Given the description of an element on the screen output the (x, y) to click on. 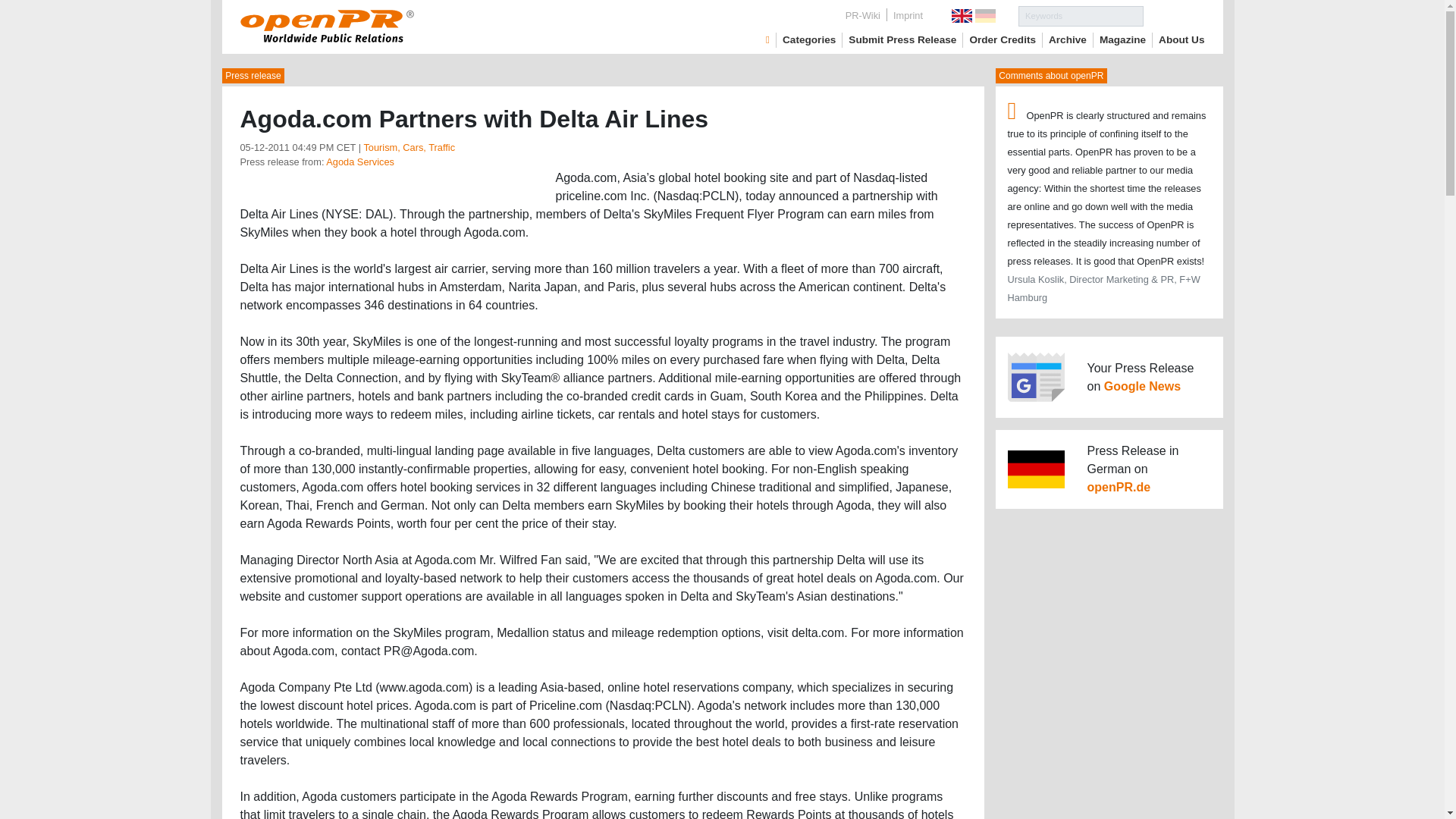
Agoda Services (360, 161)
archive und pressrelease of Agoda Services (360, 161)
Search   (1173, 15)
Categories (809, 39)
Submit Press Release (902, 39)
Imprint (907, 15)
PR-Wiki (863, 15)
Magazine (1122, 39)
Tourism, Cars, Traffic (408, 147)
About Us (1181, 39)
Archive (1067, 39)
Order Credits (1002, 39)
